Given the description of an element on the screen output the (x, y) to click on. 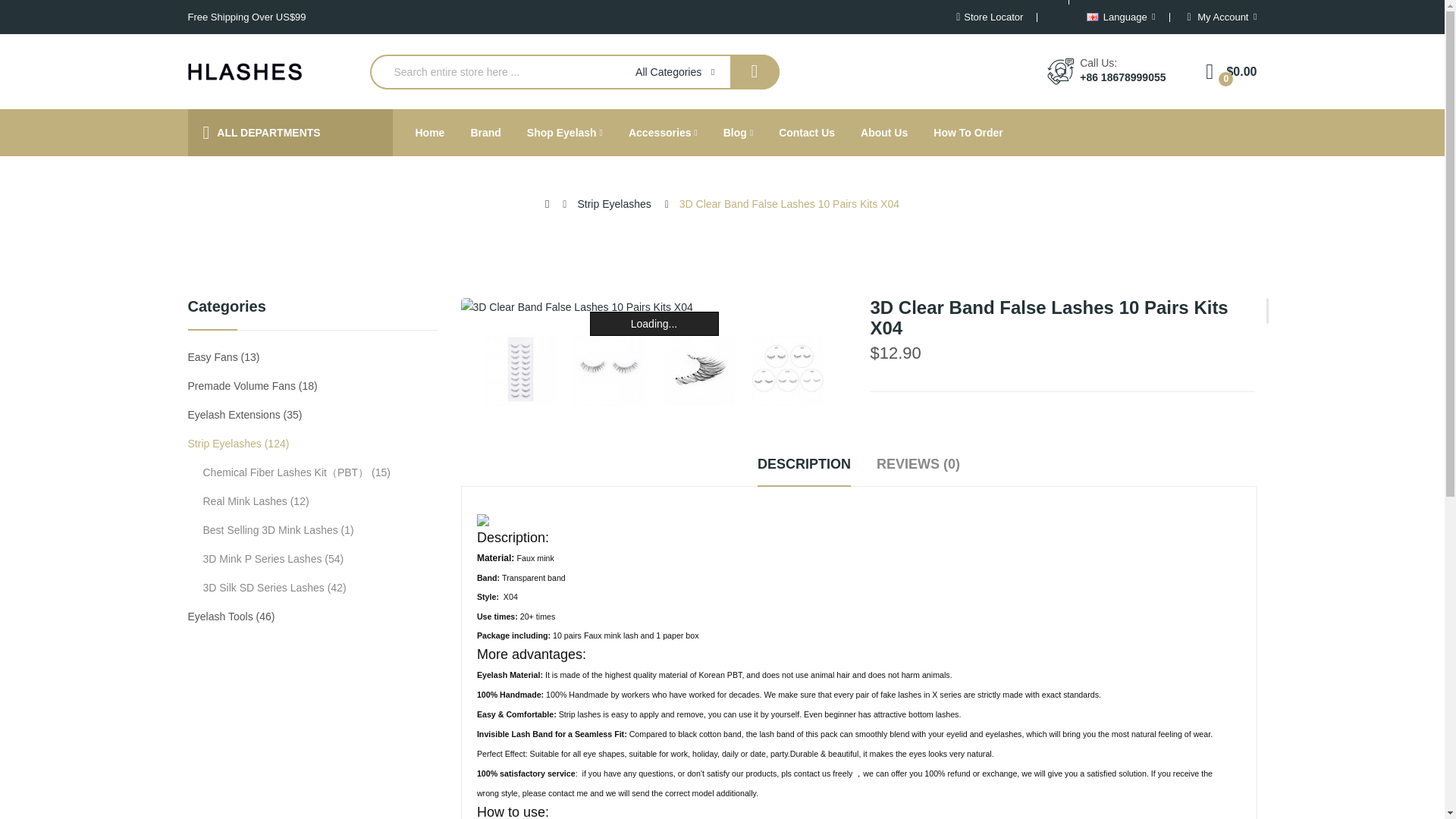
3D Clear Band False Lashes 10 Pairs Kits X04 (698, 369)
3D Clear Band False Lashes 10 Pairs Kits X04 (787, 368)
Store Locator (989, 17)
Store Locator (989, 17)
1 (923, 637)
3D Clear Band False Lashes 10 Pairs Kits X04 (654, 307)
3D Clear Band False Lashes 10 Pairs Kits X04 (788, 369)
My Account (1222, 17)
Language  (1120, 17)
Add to Wish List (914, 736)
English (1092, 17)
3D Clear Band False Lashes 10 Pairs Kits X04 (698, 368)
3D Clear Band False Lashes 10 Pairs Kits X04 (609, 368)
3D Clear Band False Lashes 10 Pairs Kits X04 (519, 368)
Compare this Product (1041, 736)
